Given the description of an element on the screen output the (x, y) to click on. 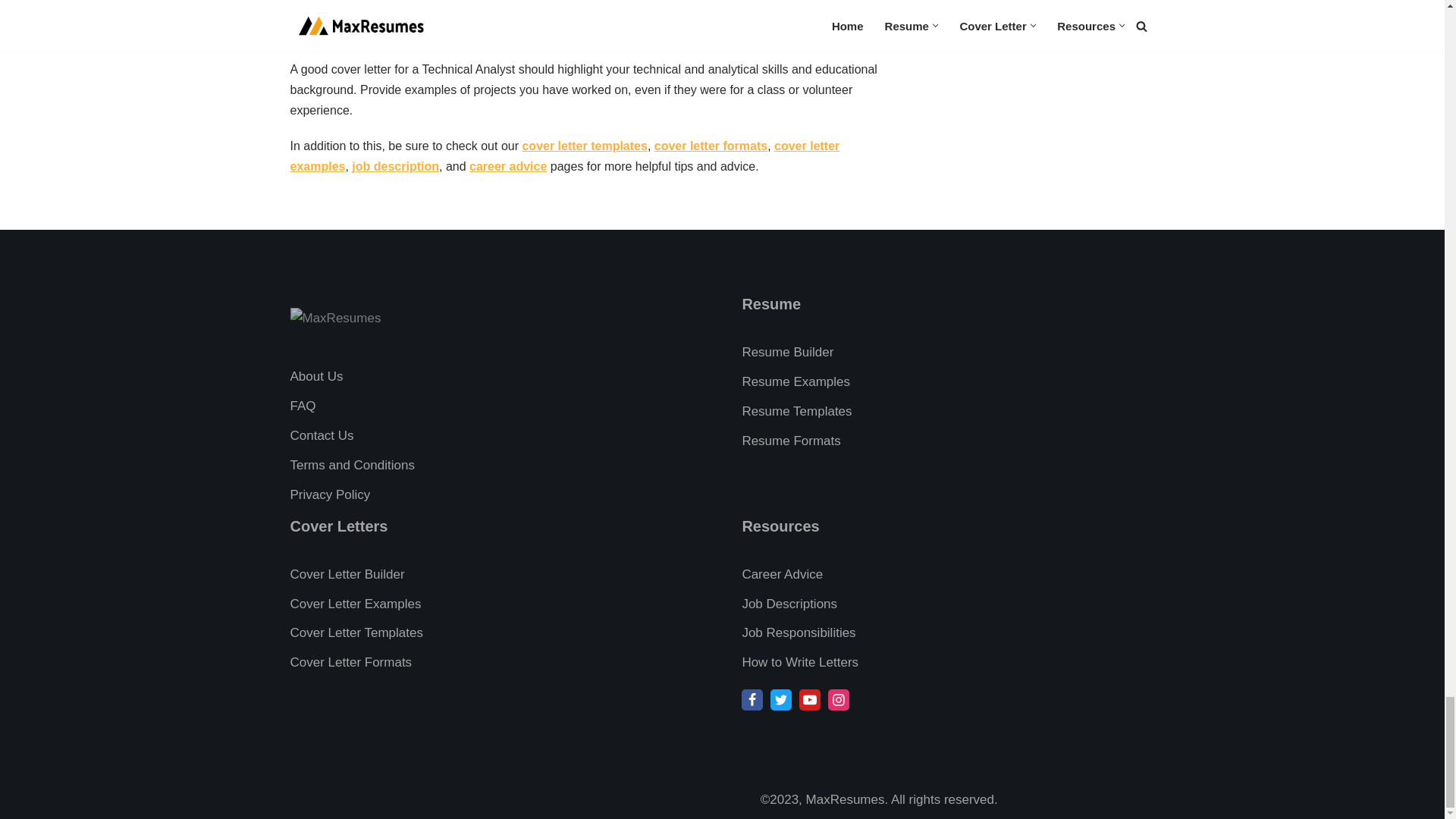
Youtube (810, 699)
Facebook (751, 699)
Instagram (838, 699)
Twitter (781, 699)
